Given the description of an element on the screen output the (x, y) to click on. 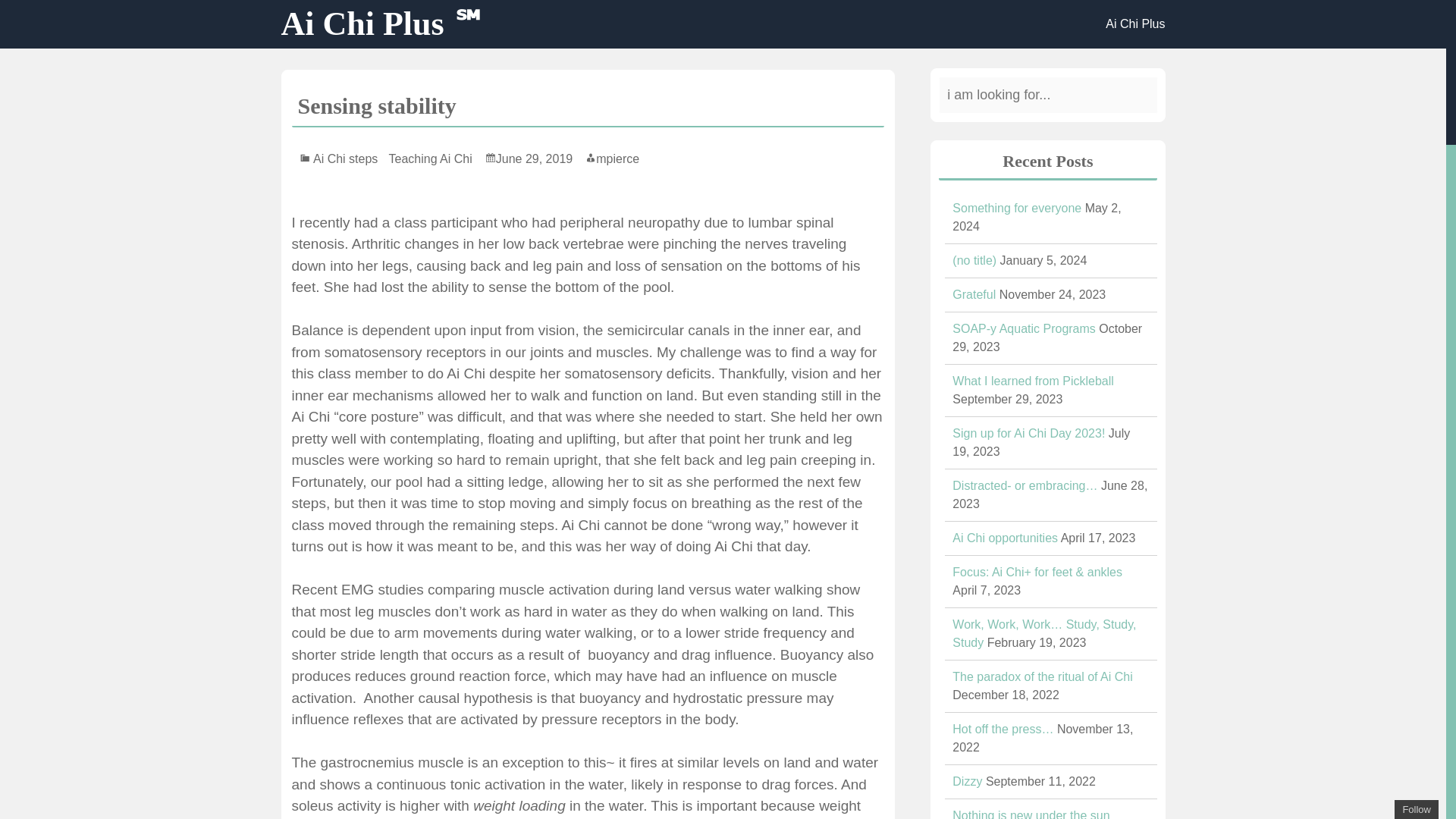
Sign up for Ai Chi Day 2023! (1028, 432)
Sensing stability (376, 105)
Ai Chi Plus (1134, 24)
Ai Chi steps (349, 158)
Grateful (973, 294)
Teaching Ai Chi (433, 158)
What I learned from Pickleball (1032, 380)
Something for everyone (1016, 207)
Ai Chi opportunities (1005, 537)
mpierce (612, 158)
SOAP-y Aquatic Programs (1024, 328)
The paradox of the ritual of Ai Chi (1042, 676)
